Given the description of an element on the screen output the (x, y) to click on. 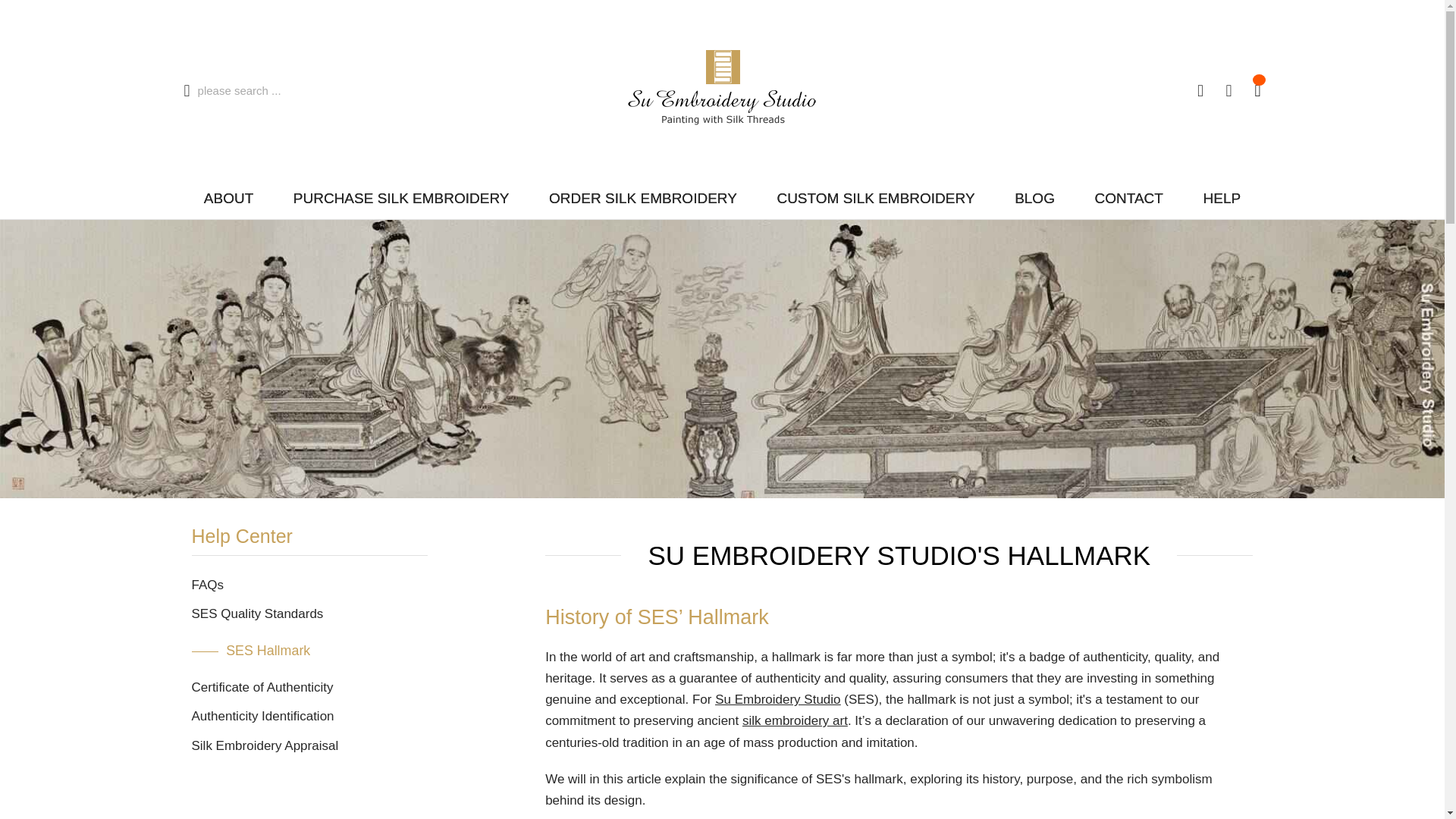
Silk Embroidery Appraisal (263, 745)
ORDER SILK EMBROIDERY (642, 198)
silk embroidery art (794, 720)
SES Quality Standards (256, 613)
PURCHASE SILK EMBROIDERY (400, 198)
Authenticity Identification (261, 716)
Certificate of Authenticity (261, 687)
HELP (1221, 198)
FAQs (207, 585)
Certificate of Authenticity (261, 687)
